Given the description of an element on the screen output the (x, y) to click on. 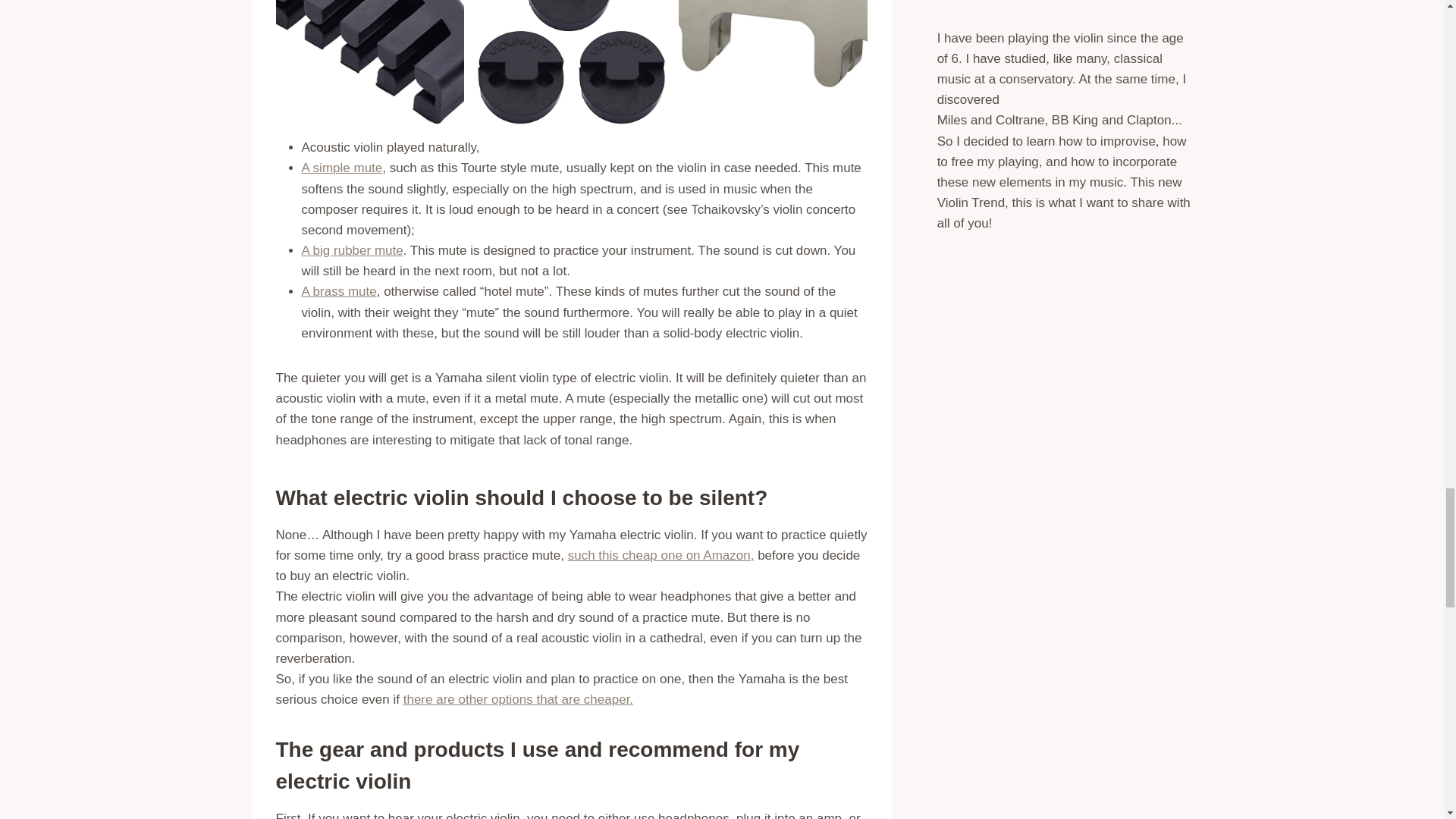
A big rubber mute (352, 250)
such this cheap one on Amazon, (660, 554)
A simple mute (341, 167)
there are other options that are cheaper. (518, 699)
A brass mute (339, 291)
